Given the description of an element on the screen output the (x, y) to click on. 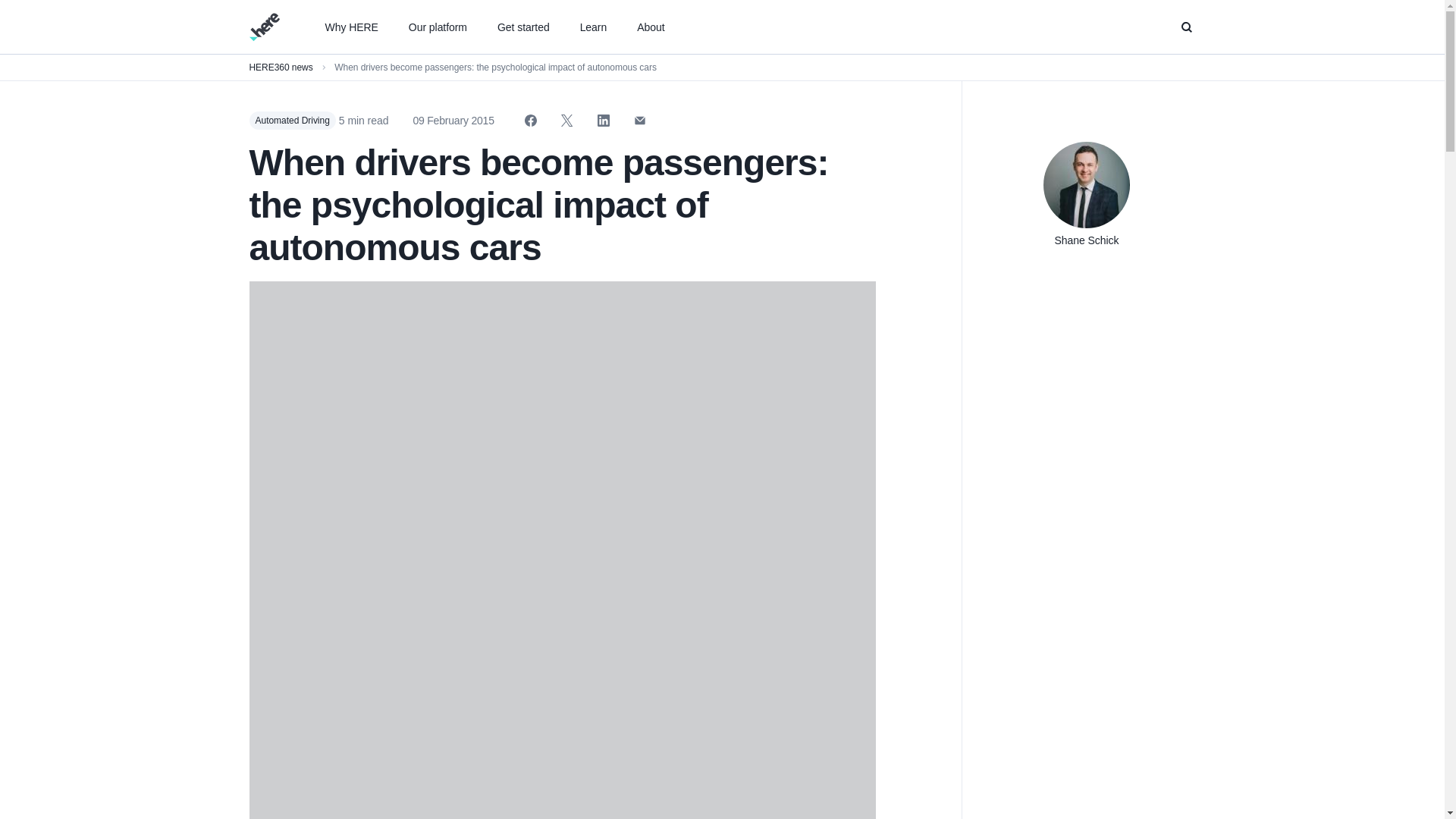
Why HERE (350, 27)
